Given the description of an element on the screen output the (x, y) to click on. 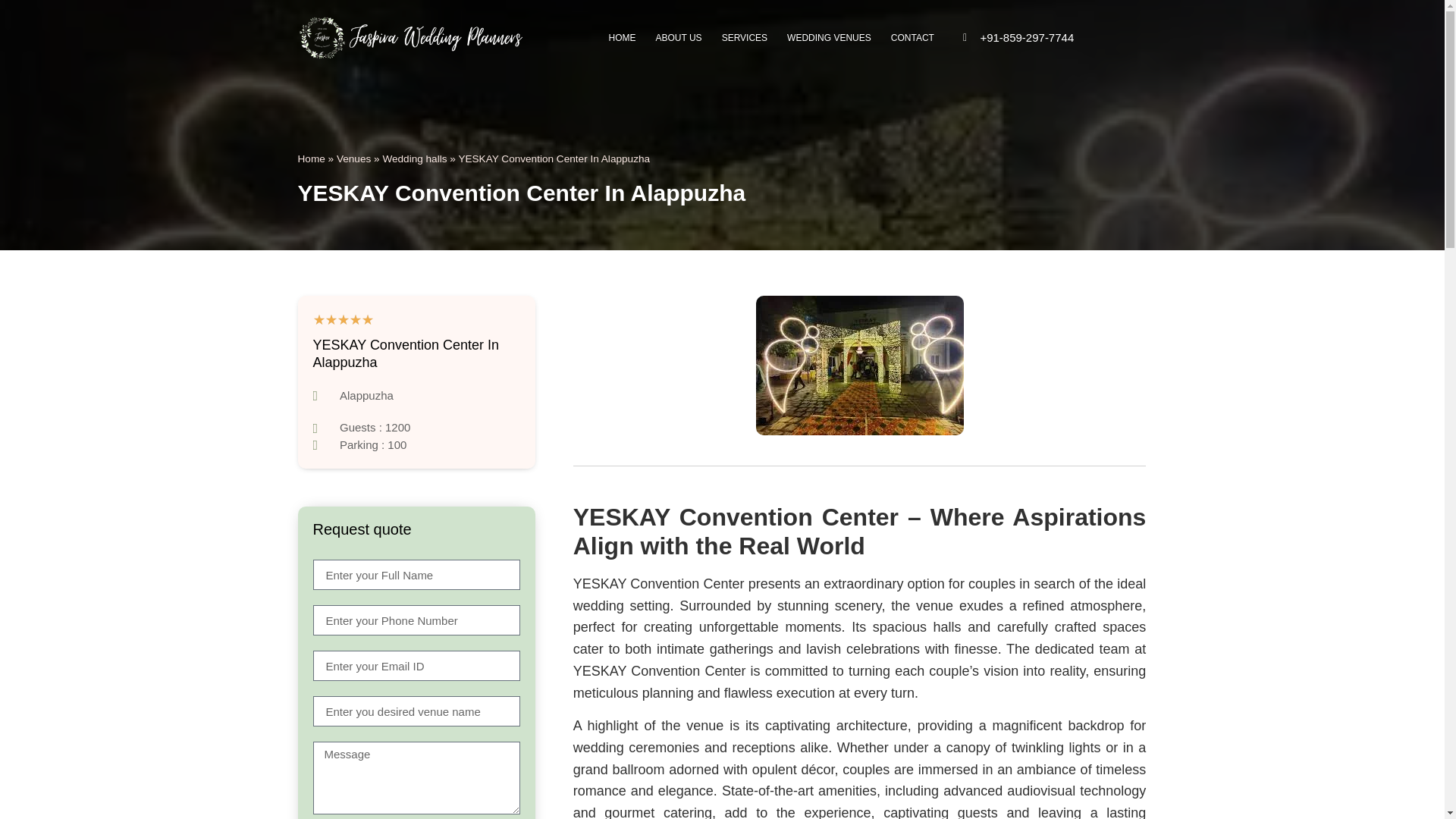
HOME (622, 37)
WEDDING VENUES (828, 37)
SERVICES (744, 37)
CONTACT (911, 37)
ABOUT US (678, 37)
